Given the description of an element on the screen output the (x, y) to click on. 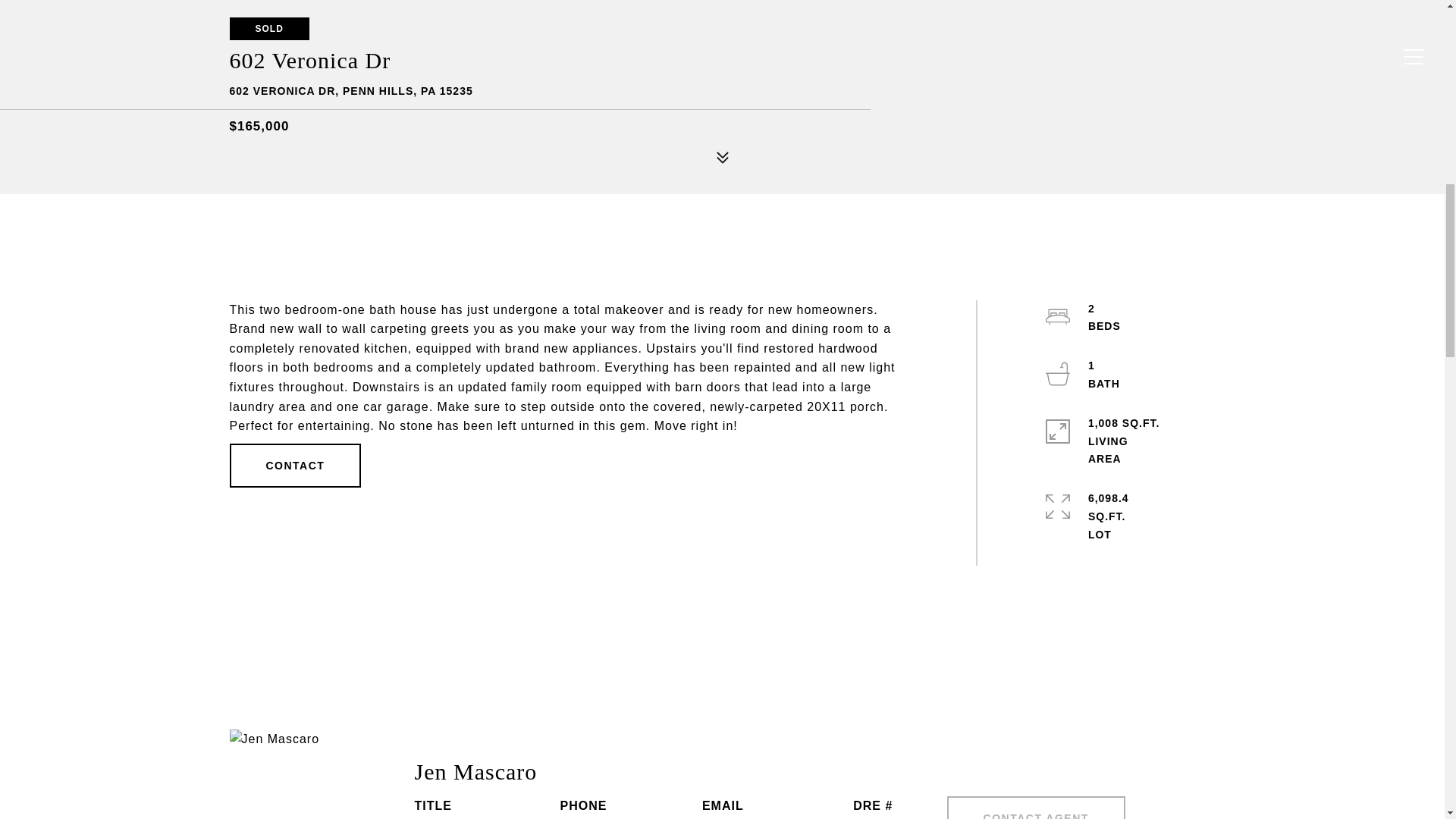
CONTACT AGENT (1036, 807)
CONTACT (294, 465)
